Given the description of an element on the screen output the (x, y) to click on. 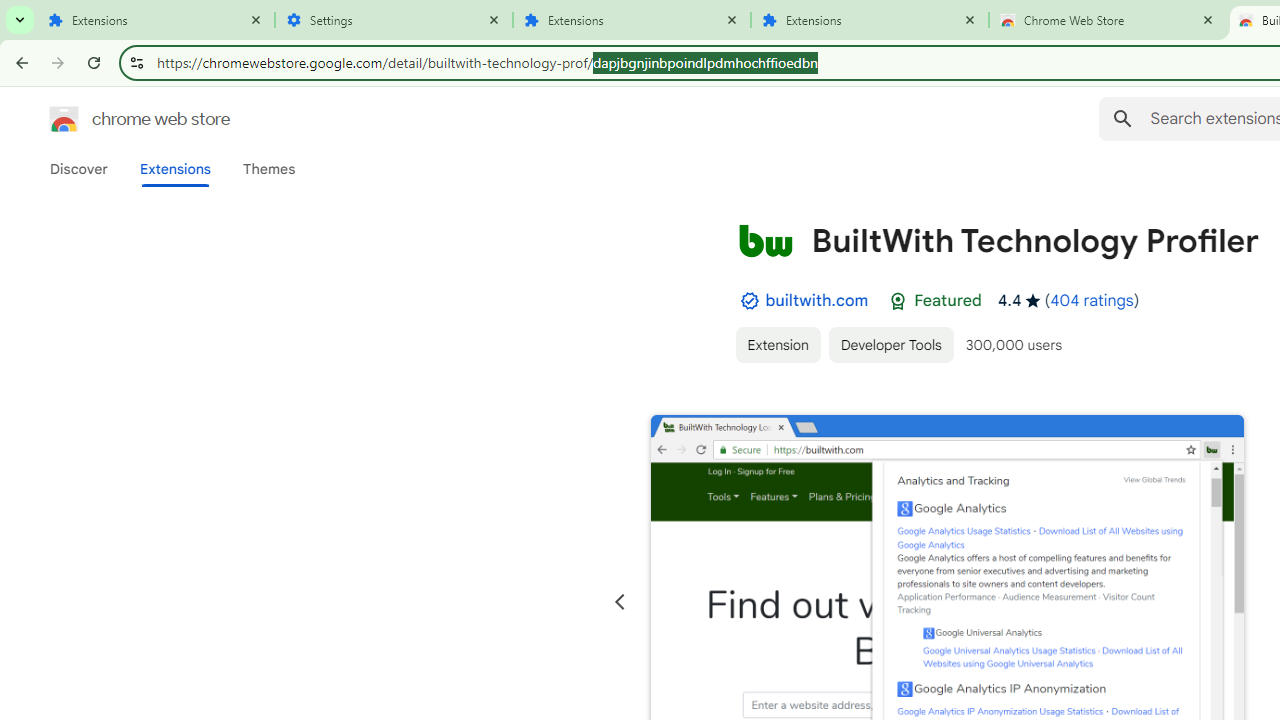
Featured Badge (898, 301)
System (10, 11)
View site information (136, 62)
Close (1208, 19)
Chrome Web Store logo (63, 118)
Settings (394, 20)
By Established Publisher Badge (749, 301)
Chrome Web Store (1108, 20)
Discover (79, 169)
404 ratings (1091, 300)
Developer Tools (890, 344)
Search tabs (20, 20)
